Given the description of an element on the screen output the (x, y) to click on. 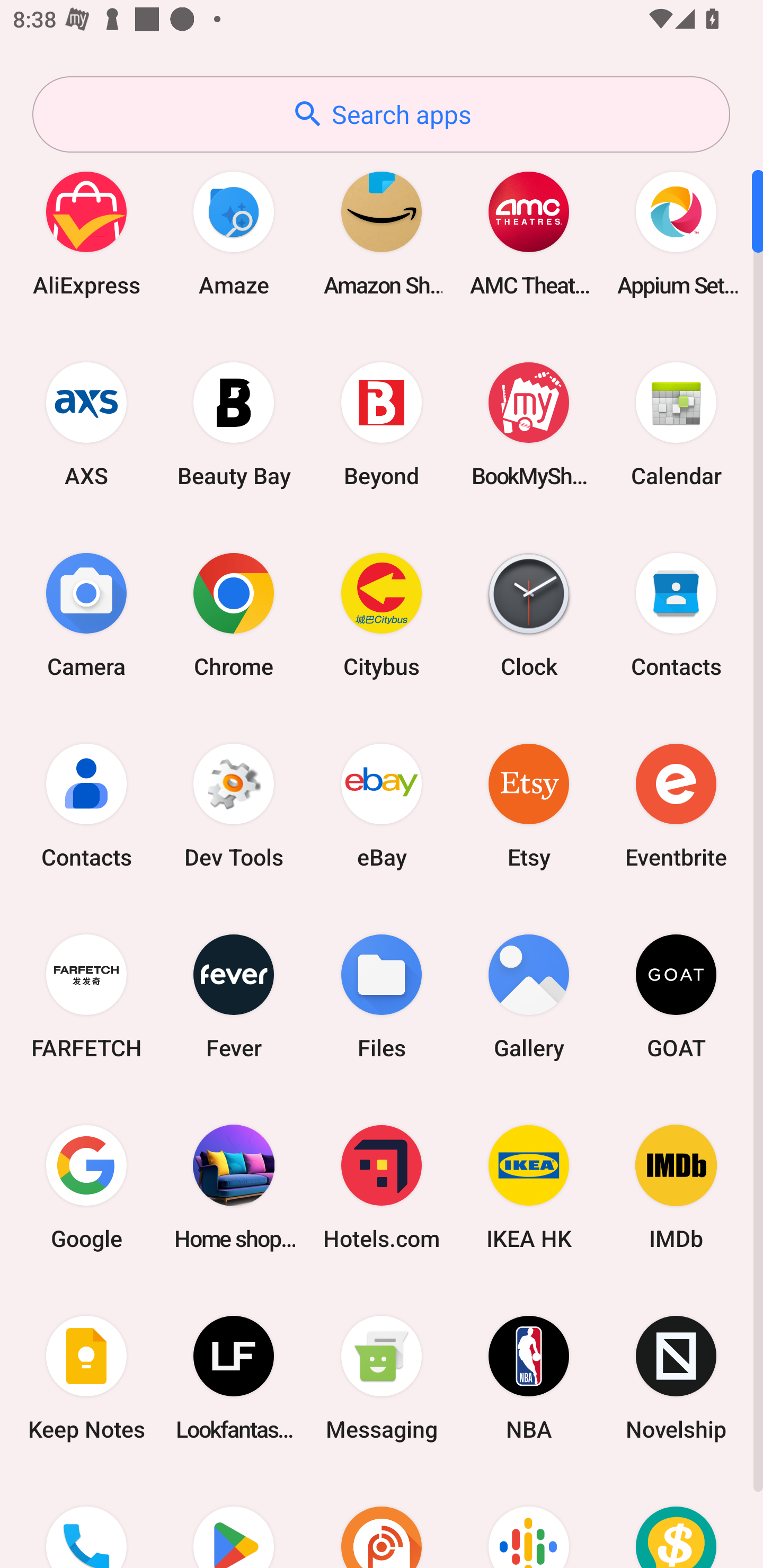
  Search apps (381, 114)
AliExpress (86, 233)
Amaze (233, 233)
Amazon Shopping (381, 233)
AMC Theatres (528, 233)
Appium Settings (676, 233)
AXS (86, 424)
Beauty Bay (233, 424)
Beyond (381, 424)
BookMyShow (528, 424)
Calendar (676, 424)
Camera (86, 614)
Chrome (233, 614)
Citybus (381, 614)
Clock (528, 614)
Contacts (676, 614)
Contacts (86, 805)
Dev Tools (233, 805)
eBay (381, 805)
Etsy (528, 805)
Eventbrite (676, 805)
FARFETCH (86, 996)
Fever (233, 996)
Files (381, 996)
Gallery (528, 996)
GOAT (676, 996)
Google (86, 1186)
Home shopping (233, 1186)
Hotels.com (381, 1186)
IKEA HK (528, 1186)
IMDb (676, 1186)
Keep Notes (86, 1377)
Lookfantastic (233, 1377)
Messaging (381, 1377)
NBA (528, 1377)
Novelship (676, 1377)
Phone (86, 1520)
Play Store (233, 1520)
Podcast Addict (381, 1520)
Podcasts (528, 1520)
Price (676, 1520)
